Given the description of an element on the screen output the (x, y) to click on. 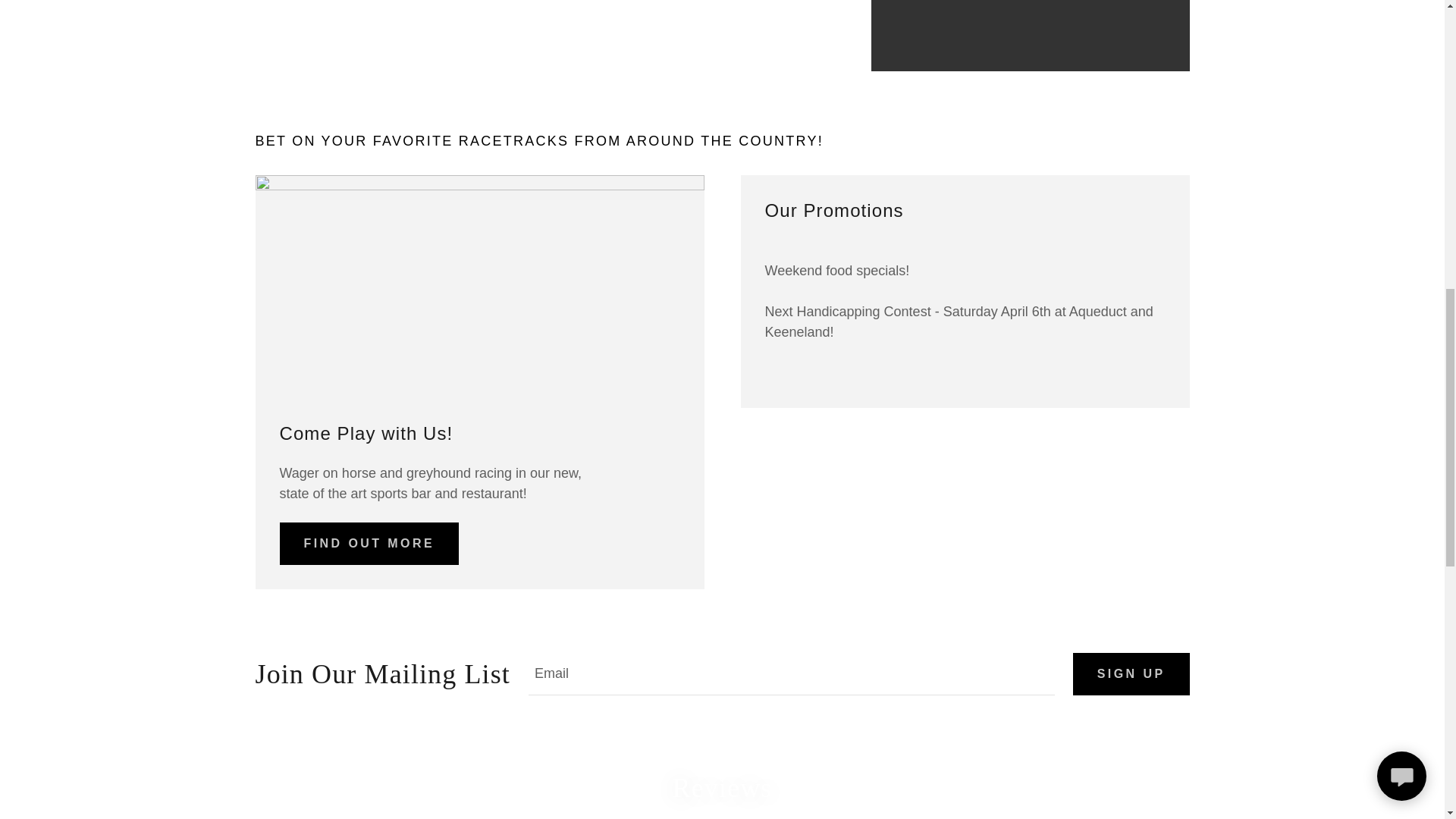
SIGN UP (1131, 673)
FIND OUT MORE (368, 543)
